Given the description of an element on the screen output the (x, y) to click on. 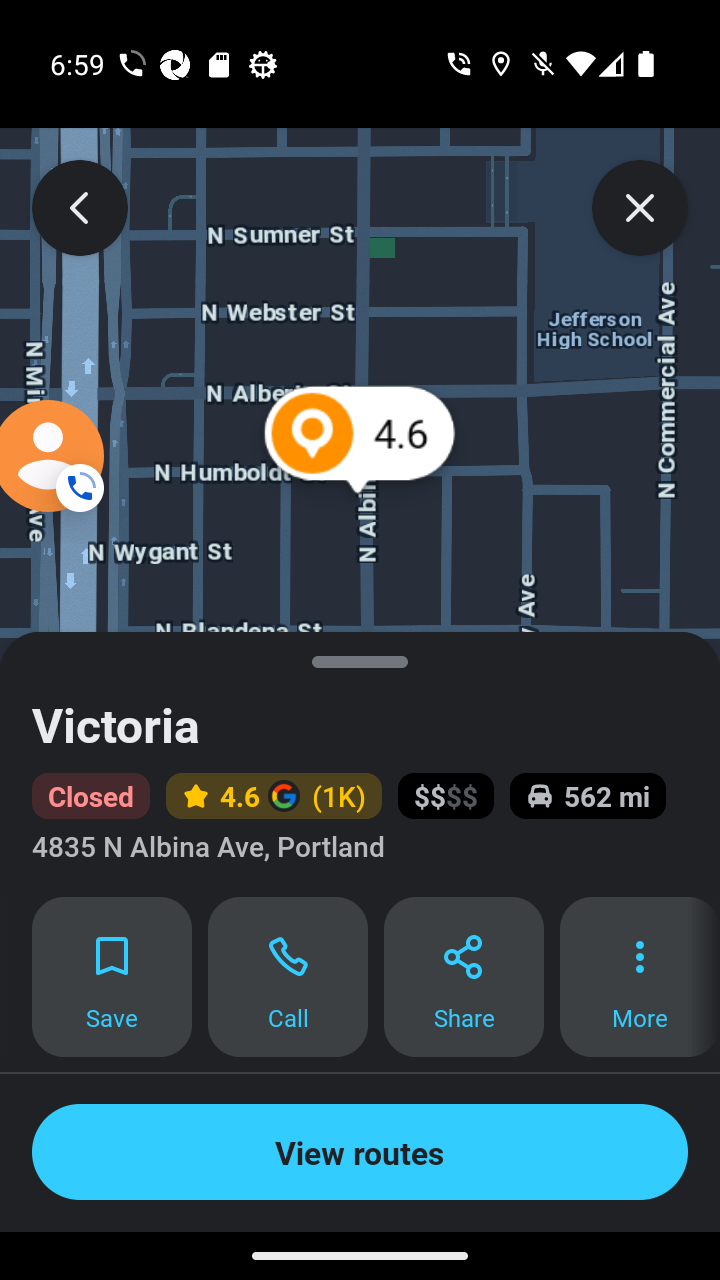
Save (111, 977)
Call (287, 977)
Share (463, 977)
More (640, 977)
View routes (359, 1151)
